Given the description of an element on the screen output the (x, y) to click on. 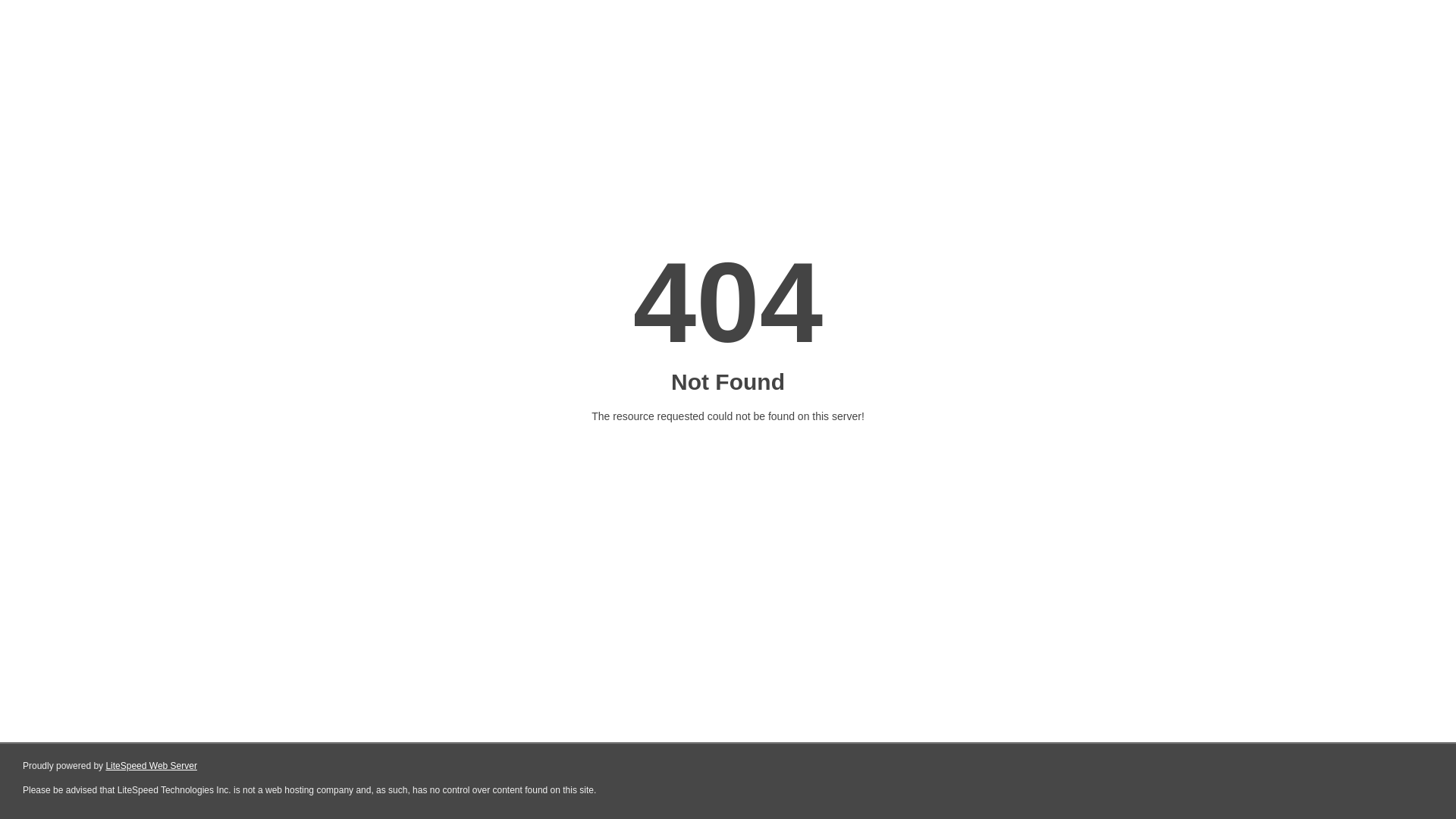
LiteSpeed Web Server Element type: text (151, 765)
